Given the description of an element on the screen output the (x, y) to click on. 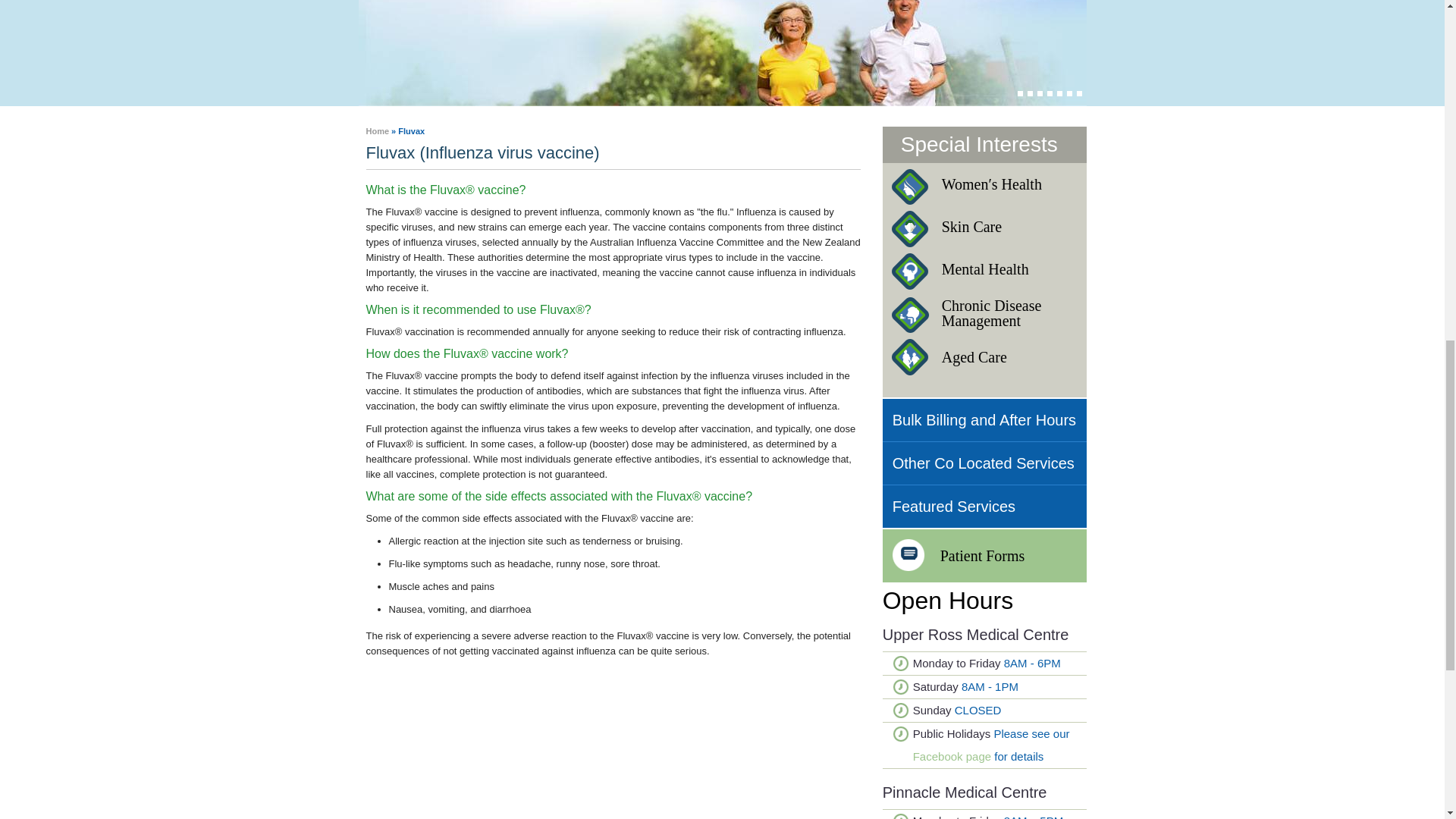
Skin Care (984, 226)
Featured Services (984, 506)
Other Co Located Services (984, 463)
Bulk Billing and After Hours (984, 419)
Go to Home. (376, 130)
Open Hours (947, 600)
Special Interests (974, 144)
Patient Forms (984, 555)
Home (376, 130)
Mental Health (984, 269)
Aged Care (984, 356)
Facebook page (984, 312)
